Given the description of an element on the screen output the (x, y) to click on. 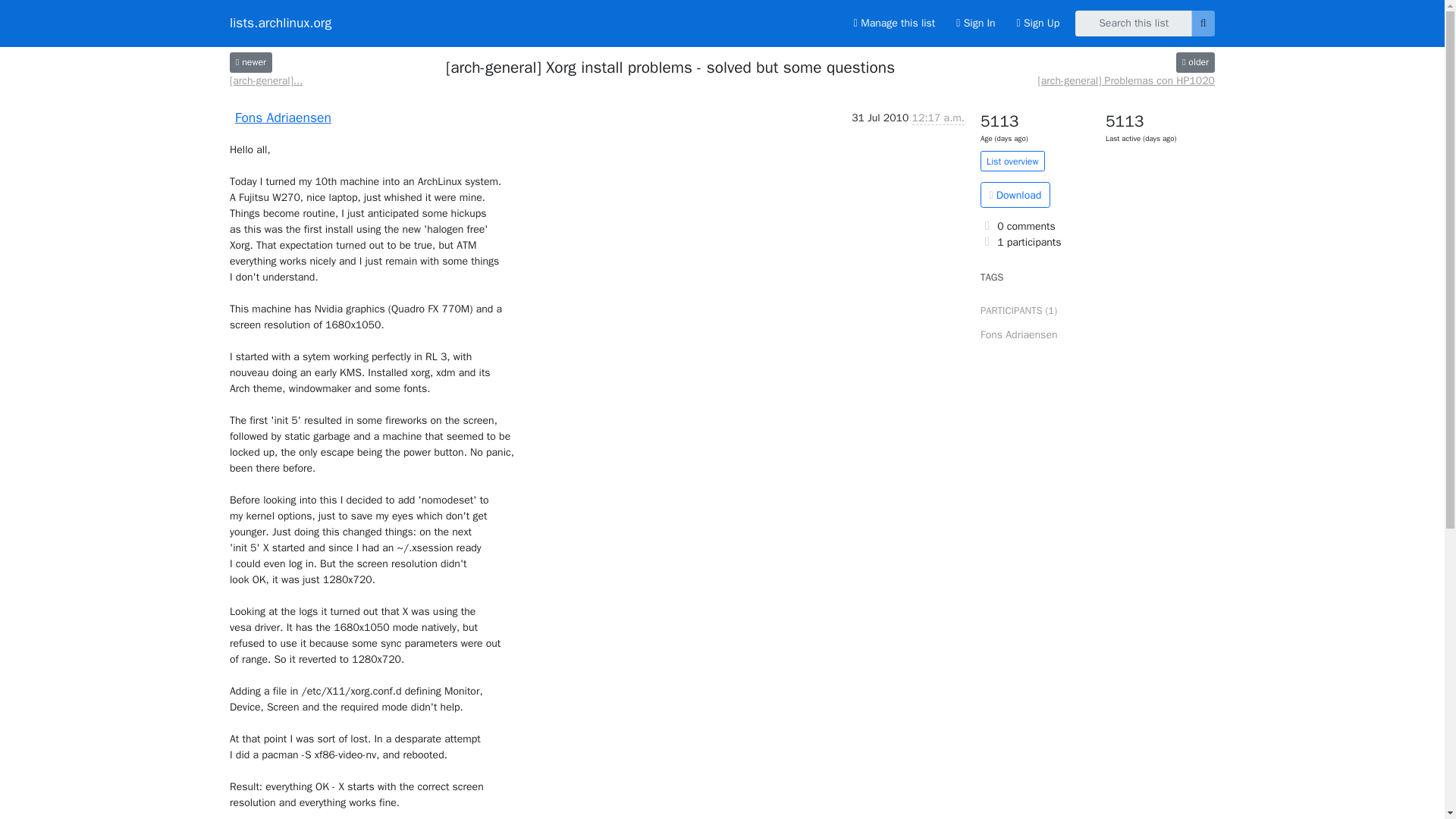
Sign In (975, 22)
This thread in gzipped mbox format (1014, 194)
Sender's time: July 31, 2010, 12:17 a.m. (937, 118)
lists.archlinux.org (280, 23)
Sign Up (1038, 22)
Fons Adriaensen (282, 117)
older (1195, 61)
Manage this list (893, 22)
Download (1014, 194)
See the profile for Fons Adriaensen (282, 117)
List overview (1012, 160)
newer (251, 61)
